Given the description of an element on the screen output the (x, y) to click on. 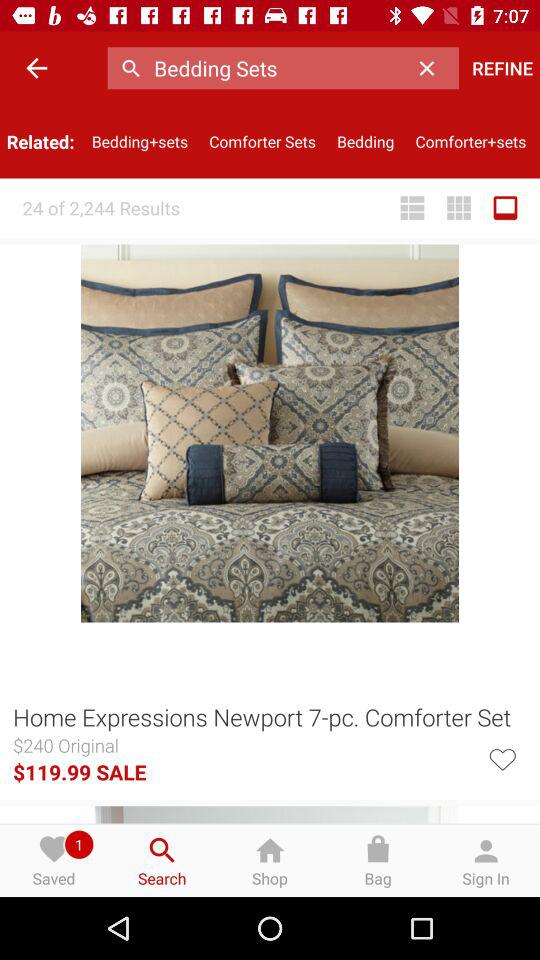
choose the item next to the refine item (432, 67)
